Given the description of an element on the screen output the (x, y) to click on. 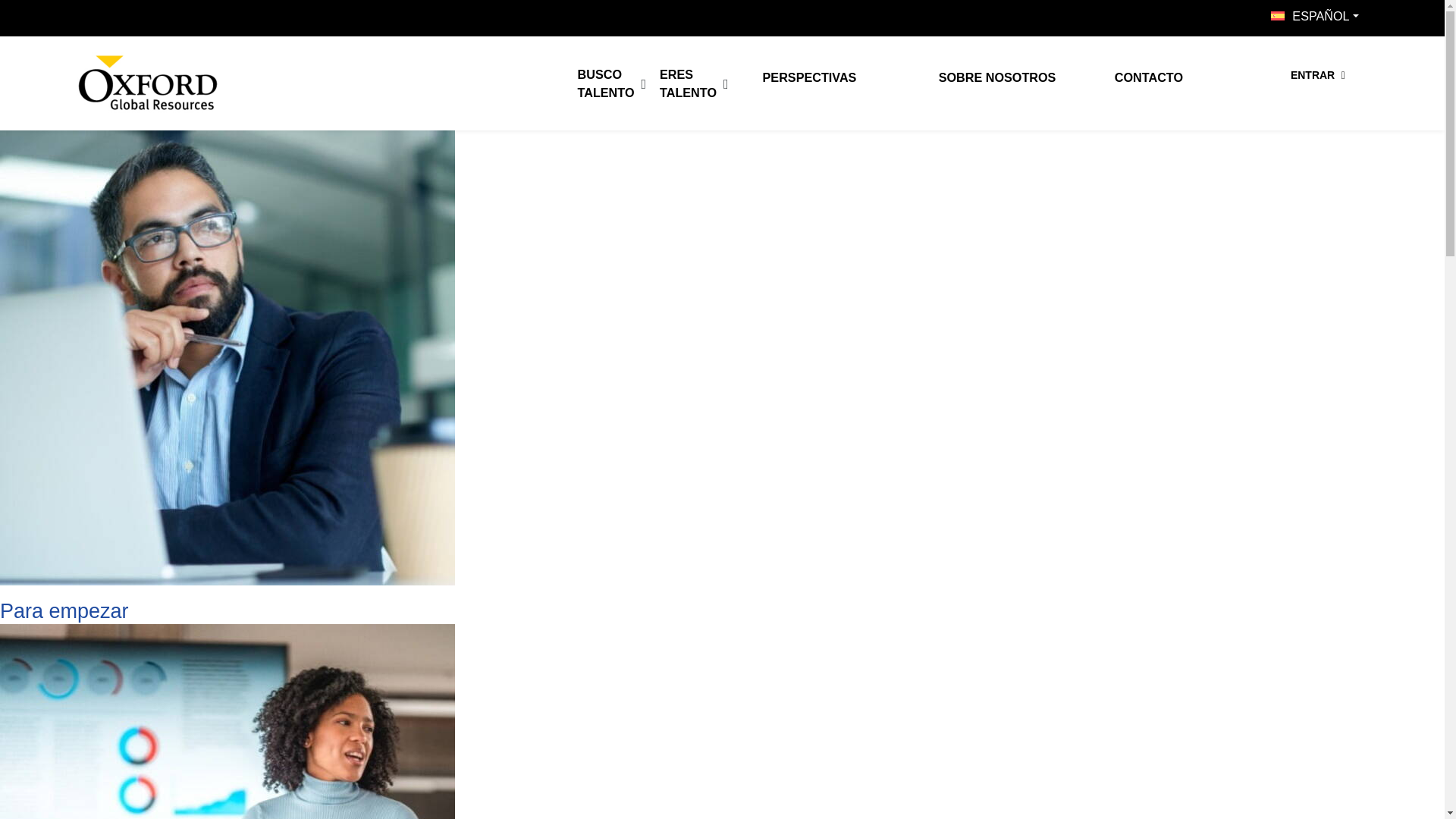
ENTRAR (1318, 75)
SOBRE NOSOTROS (999, 77)
Go to the Homepage (147, 83)
PERSPECTIVAS (823, 77)
CONTACTO (1175, 77)
